Given the description of an element on the screen output the (x, y) to click on. 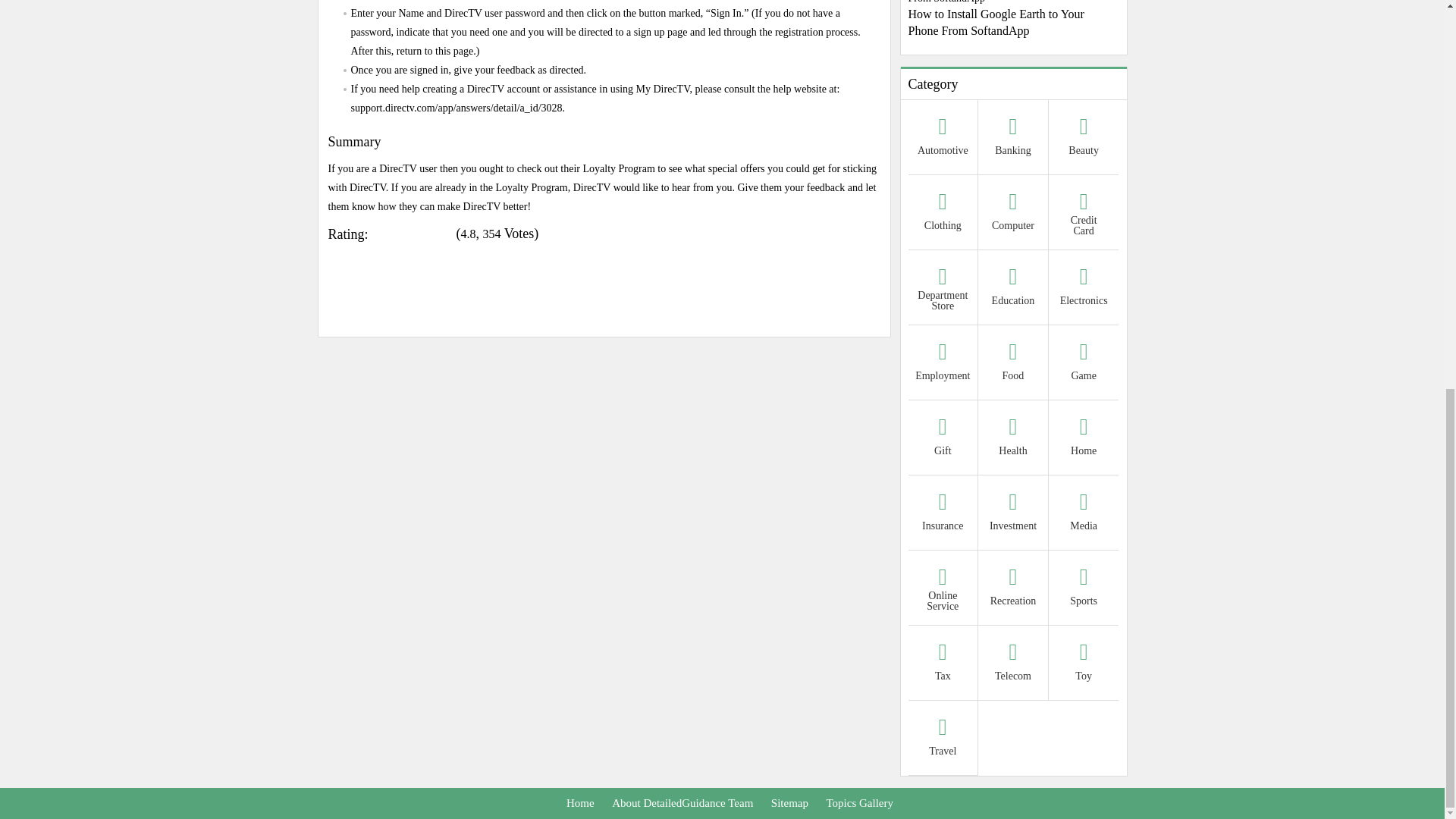
Food (1013, 364)
Clothing (943, 214)
Department Store (943, 288)
Employment (943, 364)
How to Install Google Earth to Your Phone From SoftandApp (1013, 19)
Home (1083, 439)
Education (1013, 288)
Game (1083, 364)
Automotive (943, 138)
Computer (1013, 214)
